Given the description of an element on the screen output the (x, y) to click on. 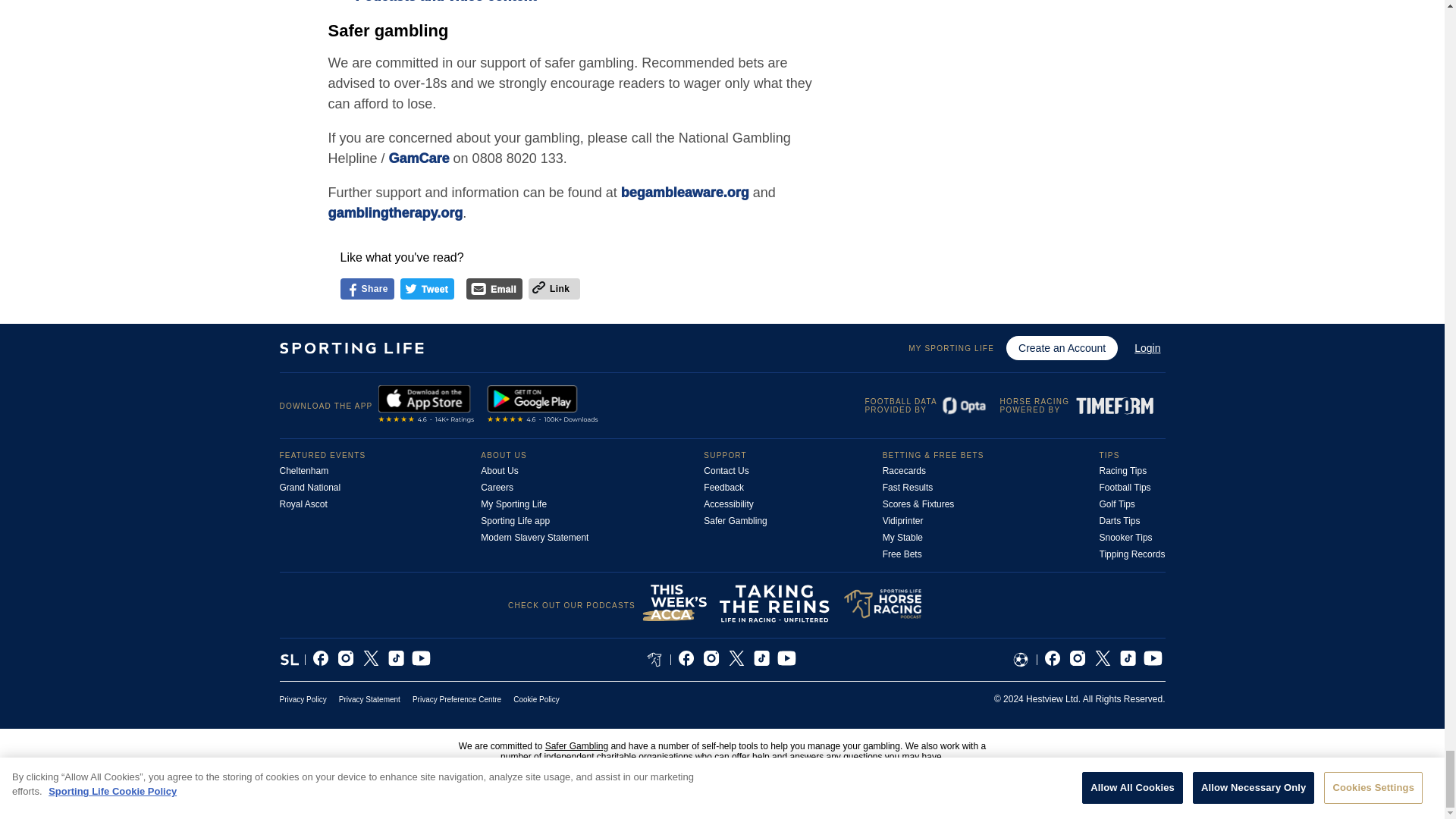
Copy link (539, 288)
Privacy Preference Centre (456, 699)
Email link (478, 290)
